Given the description of an element on the screen output the (x, y) to click on. 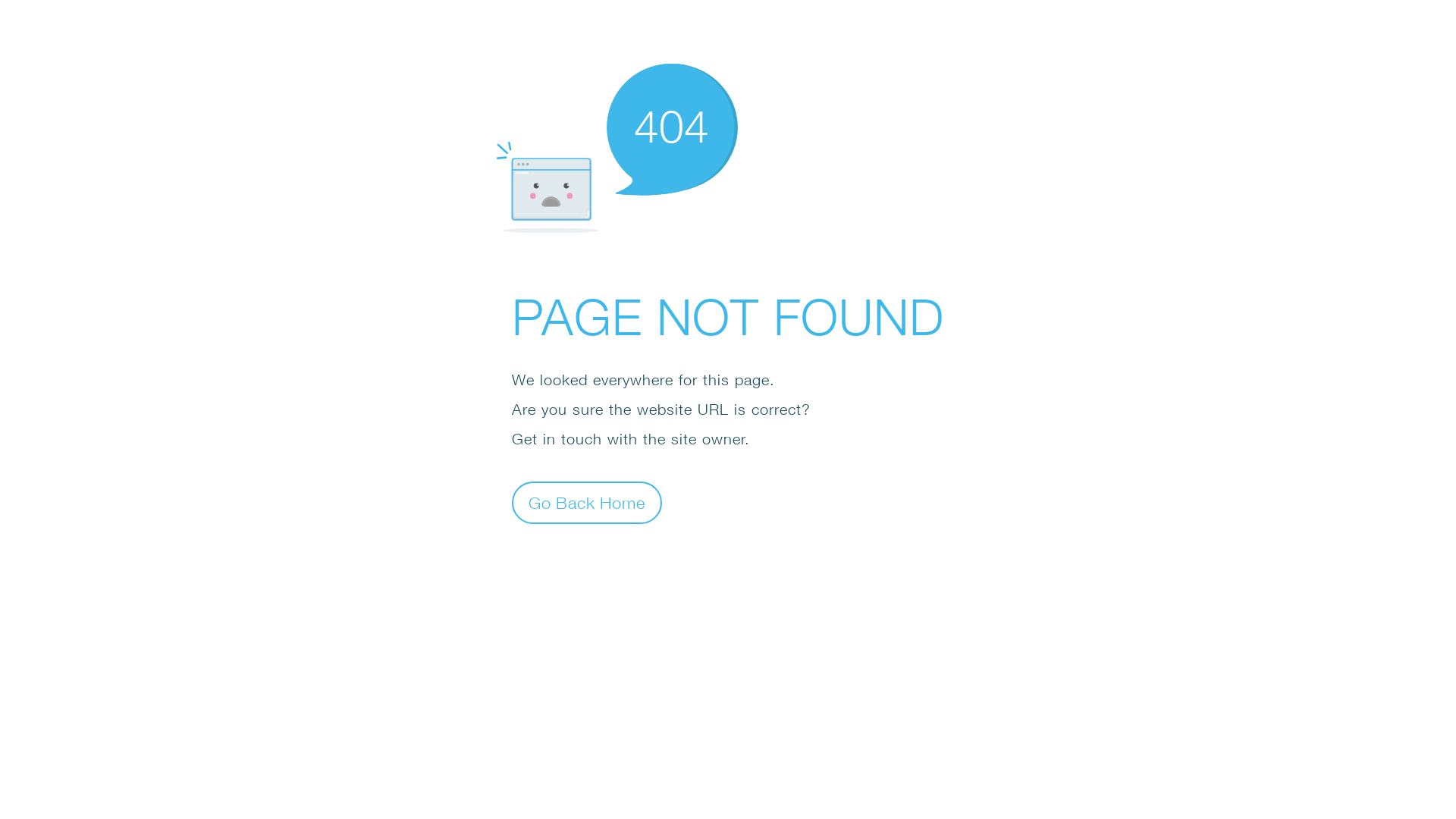
Go Back Home Element type: text (586, 502)
